Given the description of an element on the screen output the (x, y) to click on. 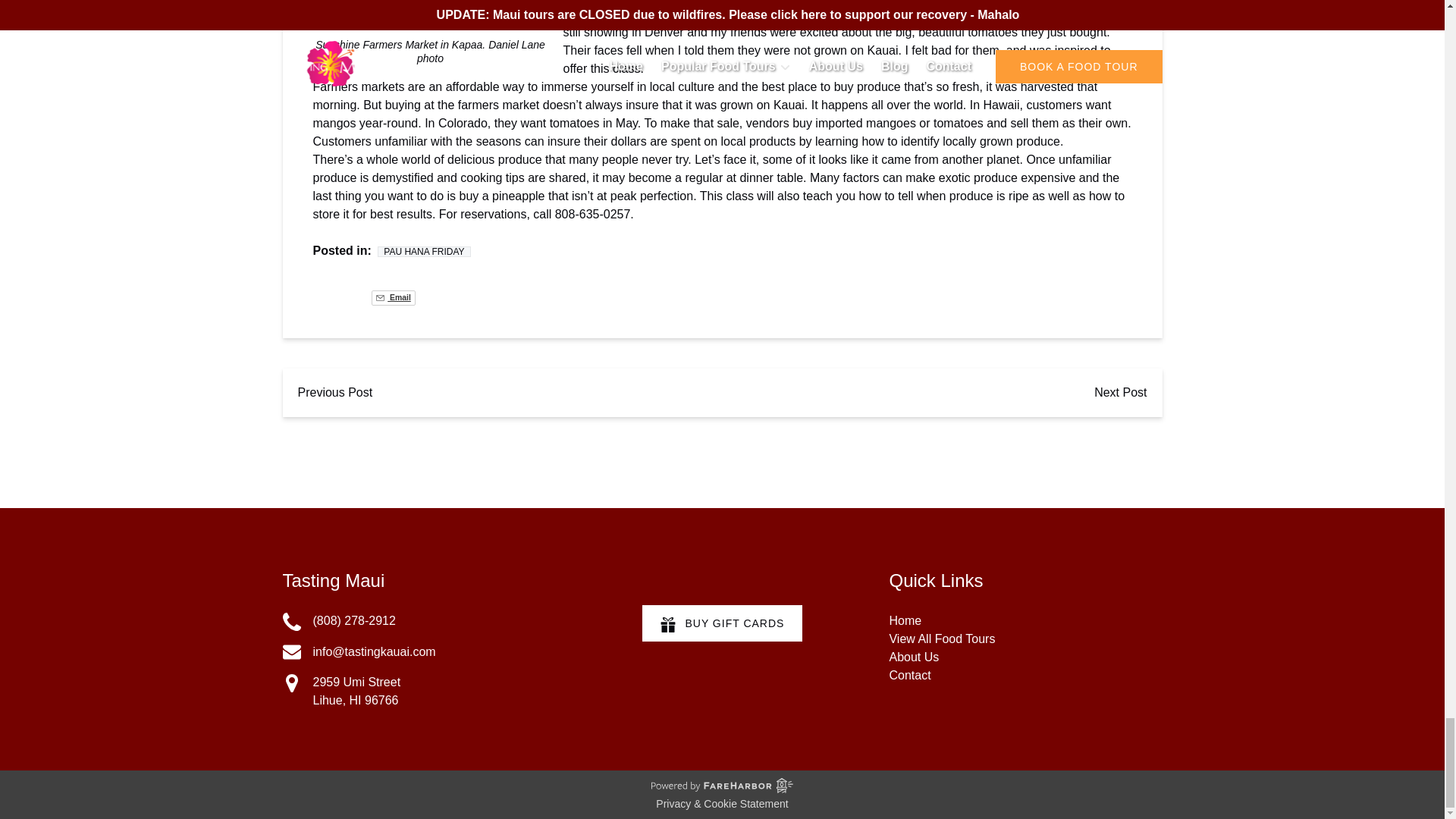
visit next post (1119, 392)
Phone (290, 621)
Envelope (290, 651)
GIFT (668, 624)
Map Marker (290, 683)
visit previous post (334, 392)
Pau hana friday (423, 251)
Email this page to a friend. (392, 297)
